Given the description of an element on the screen output the (x, y) to click on. 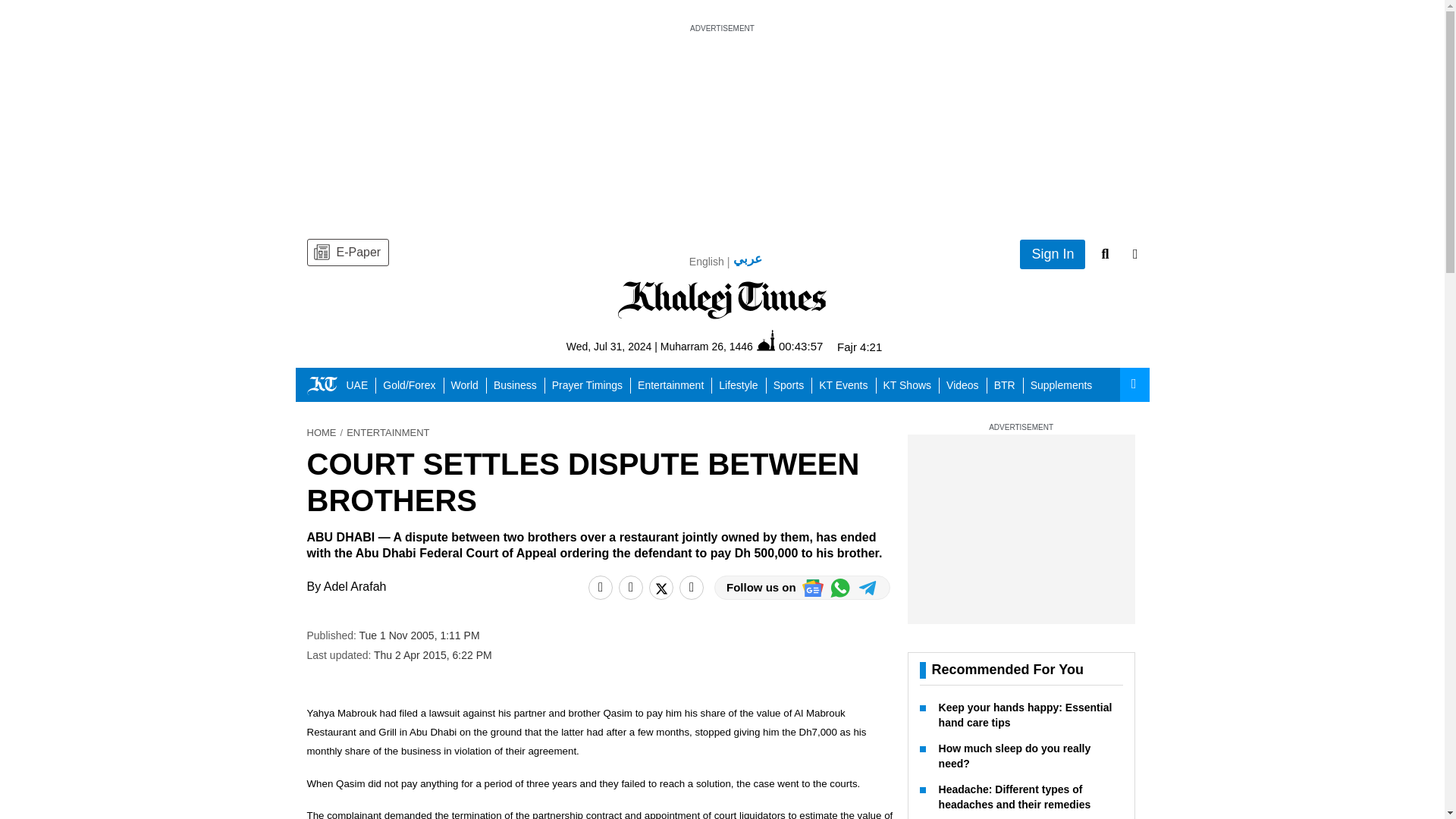
Sign In (1052, 254)
E-Paper (346, 252)
00:43:57 (789, 345)
Fajr 4:21 (859, 346)
